Given the description of an element on the screen output the (x, y) to click on. 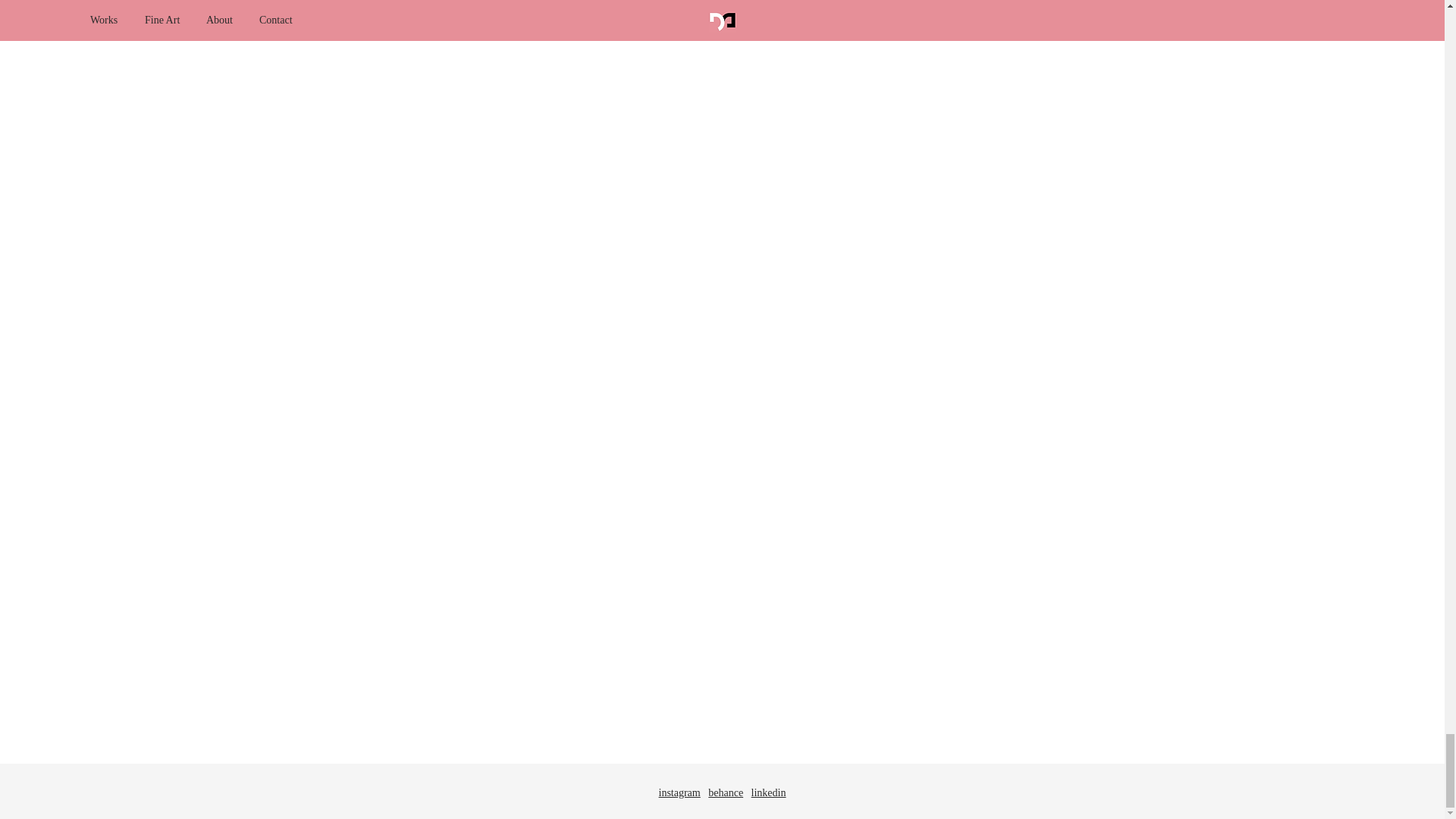
instagram (679, 792)
linkedin (768, 792)
behance (724, 792)
